Given the description of an element on the screen output the (x, y) to click on. 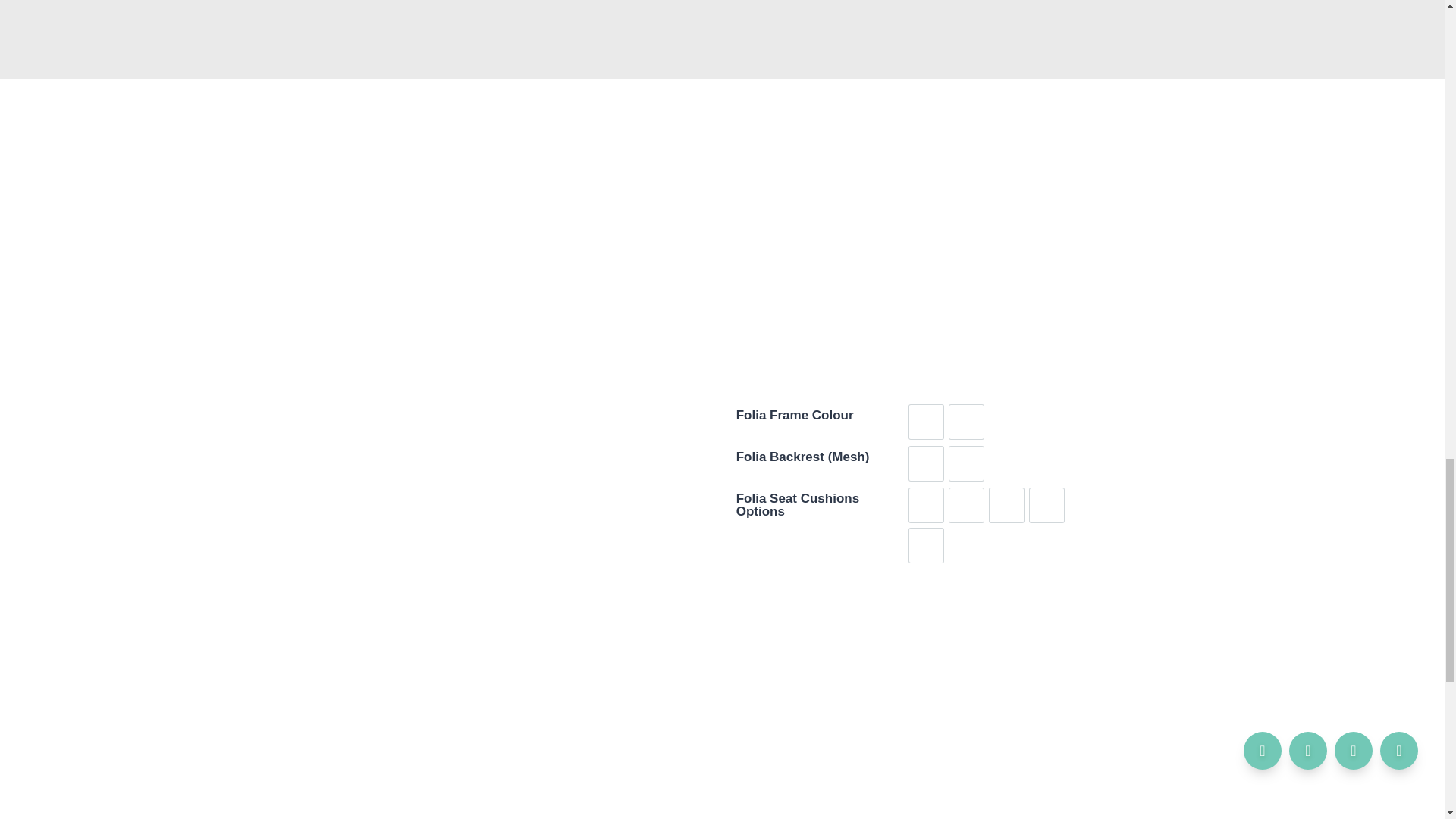
KCTQ5 (925, 505)
KCTR6 (966, 505)
Black (925, 463)
Gray (966, 463)
F6 (925, 421)
White (966, 421)
